Given the description of an element on the screen output the (x, y) to click on. 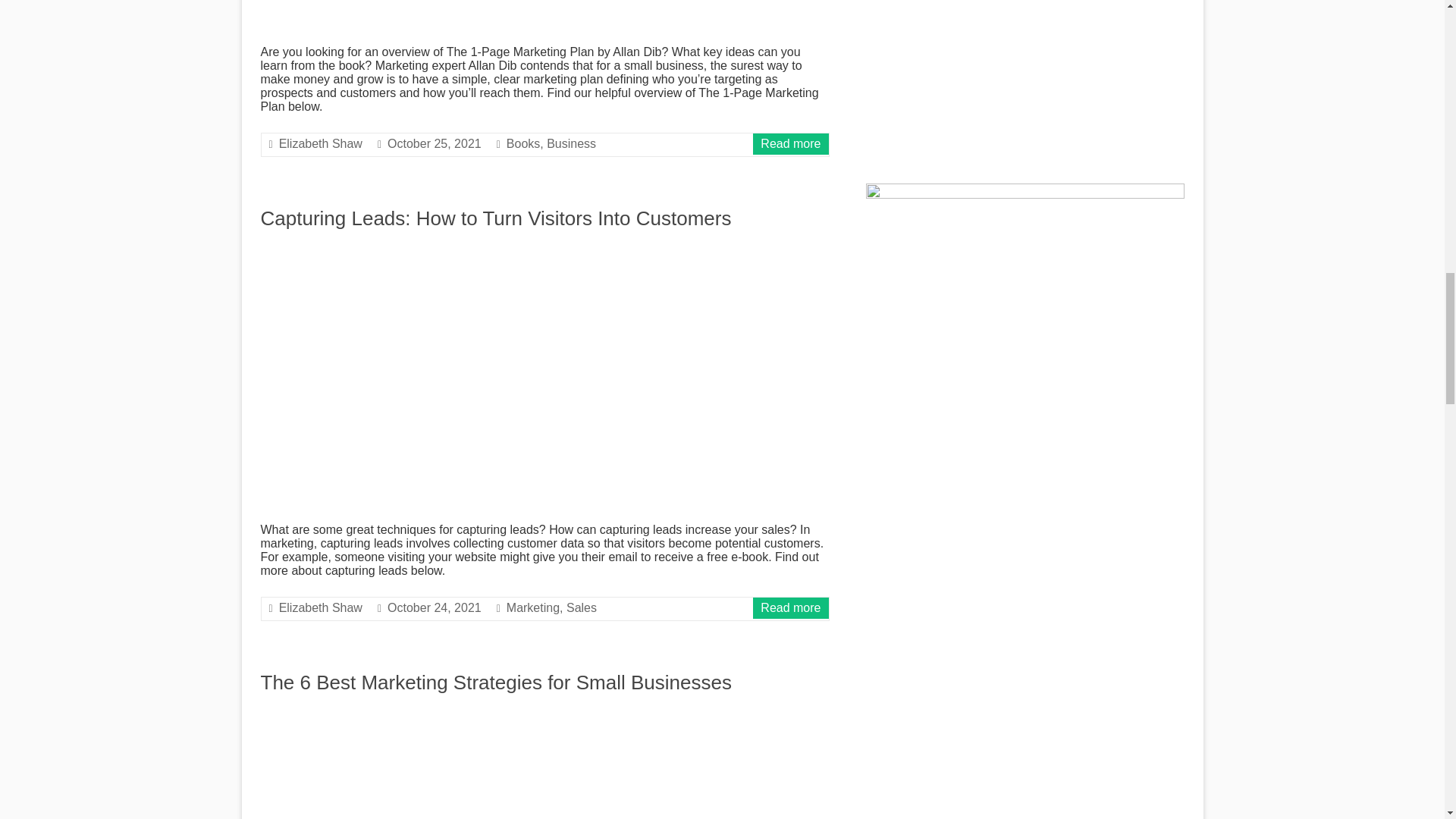
Elizabeth Shaw (320, 607)
October 25, 2021 (434, 143)
Elizabeth Shaw (320, 143)
Capturing Leads: How to Turn Visitors Into Customers (496, 218)
Business (571, 143)
The 1-Page Marketing Plan by Allan Dib: Book Overview (544, 15)
Books (523, 143)
October 24, 2021 (434, 607)
Read more (790, 143)
Marketing (532, 607)
